Given the description of an element on the screen output the (x, y) to click on. 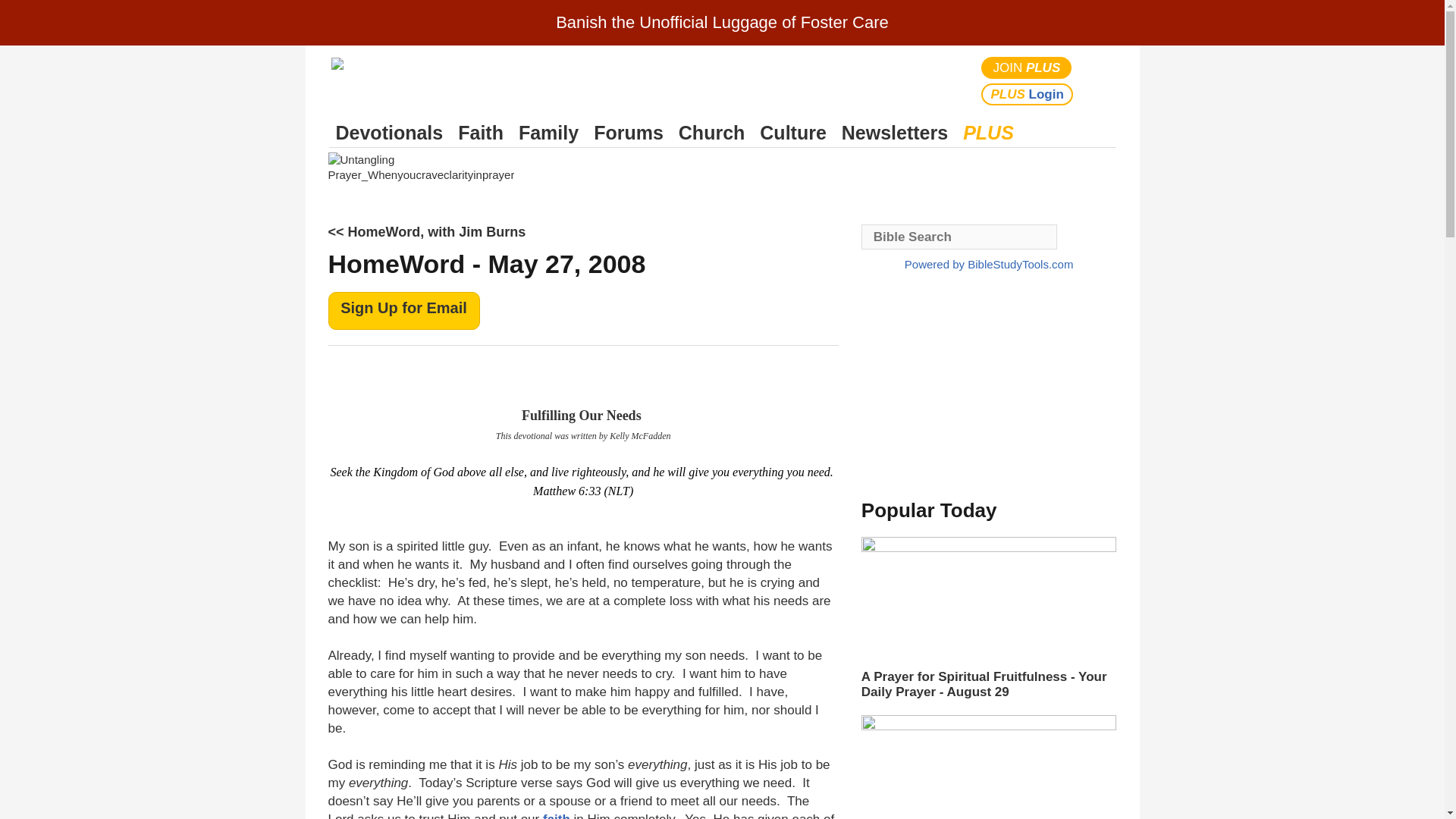
Plus Login (1026, 94)
JOIN PLUS (1026, 67)
Search (1101, 80)
Devotionals (389, 132)
Join Plus (1026, 67)
Faith (481, 132)
PLUS Login (1026, 94)
